Given the description of an element on the screen output the (x, y) to click on. 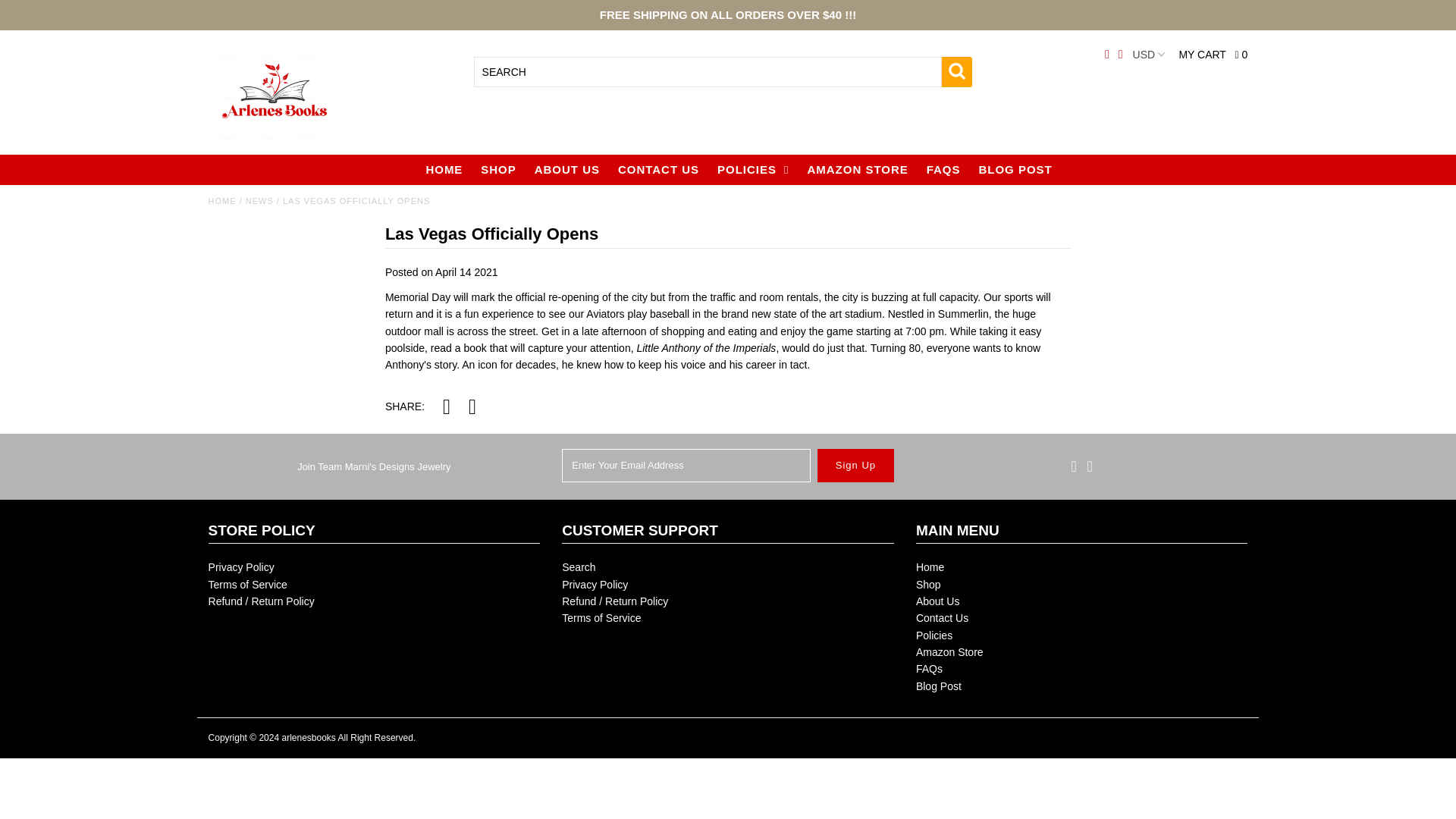
NEWS (259, 200)
FAQS (943, 169)
HOME (443, 169)
Home (221, 200)
CONTACT US (658, 169)
Privacy Policy (241, 567)
Search (578, 567)
search (957, 71)
POLICIES (753, 169)
Sign Up (854, 465)
